Given the description of an element on the screen output the (x, y) to click on. 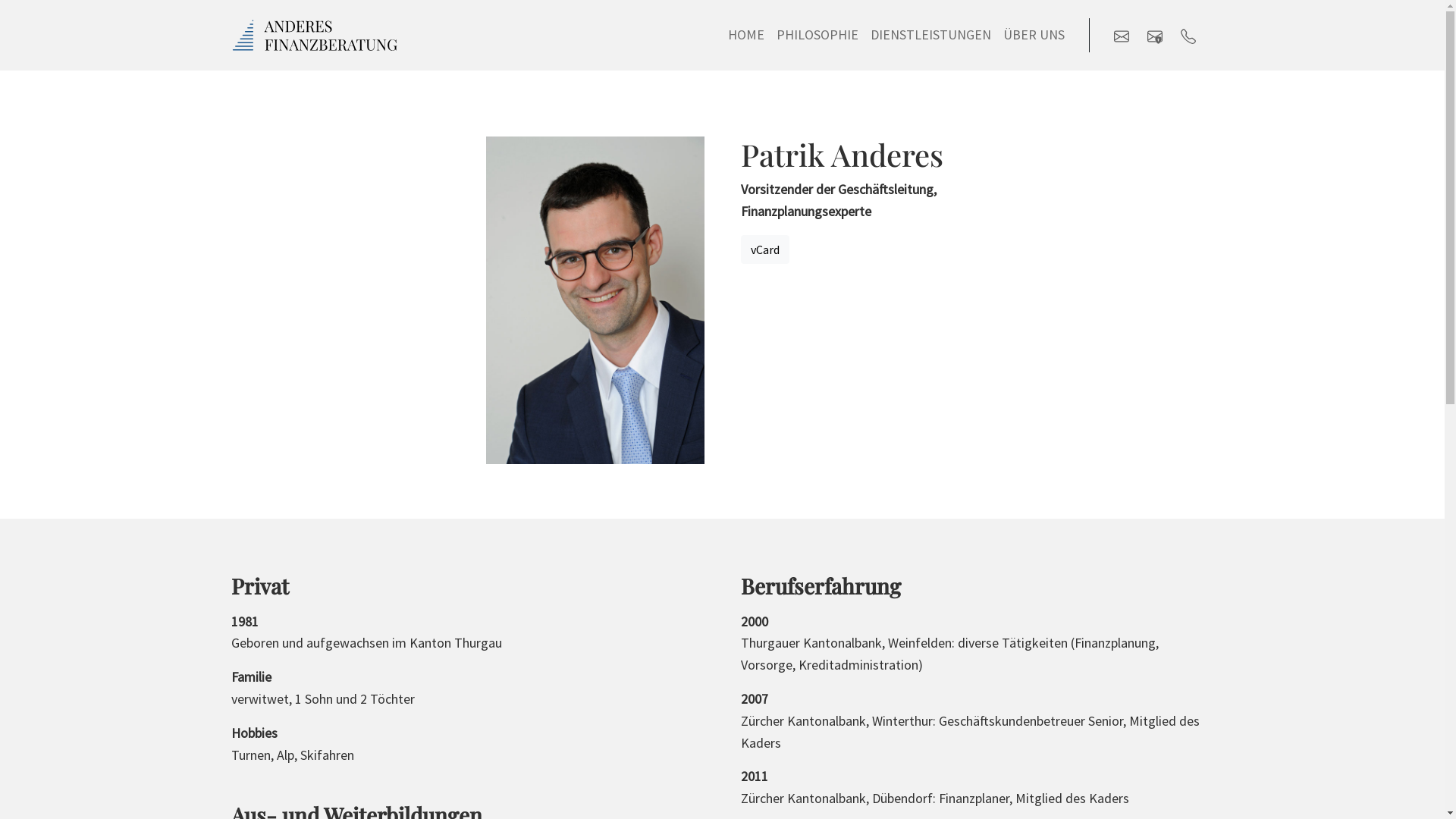
PHILOSOPHIE Element type: text (817, 35)
HOME Element type: text (745, 35)
vCard Element type: text (764, 249)
DIENSTLEISTUNGEN Element type: text (930, 35)
